Given the description of an element on the screen output the (x, y) to click on. 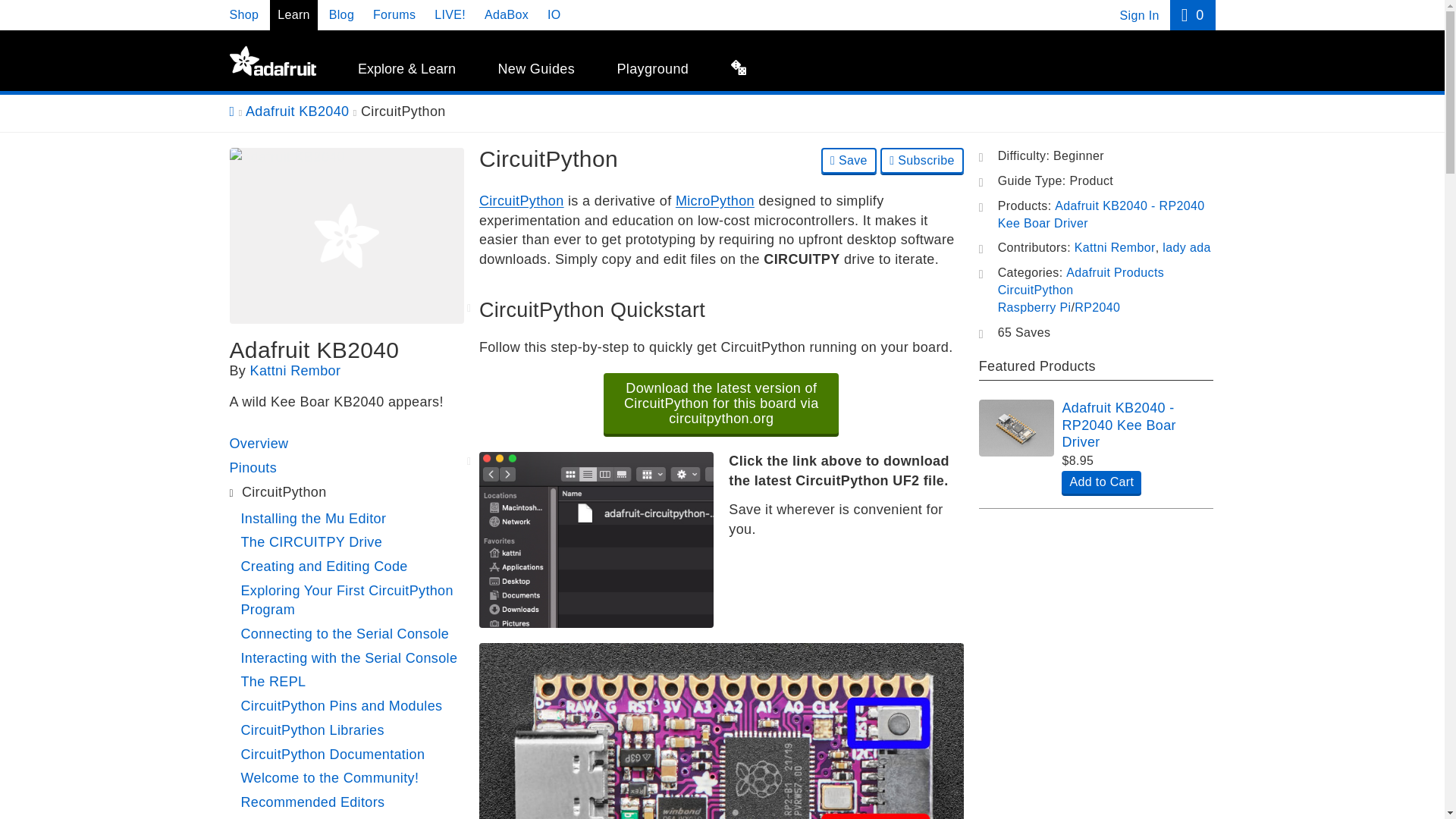
IO (553, 14)
Learn (294, 14)
Adafruit Learning System (271, 60)
Sign In (1138, 15)
AdaBox (506, 14)
Forums (393, 14)
LIVE! (449, 14)
Shop (243, 14)
Blog (341, 14)
0 (1192, 14)
